Given the description of an element on the screen output the (x, y) to click on. 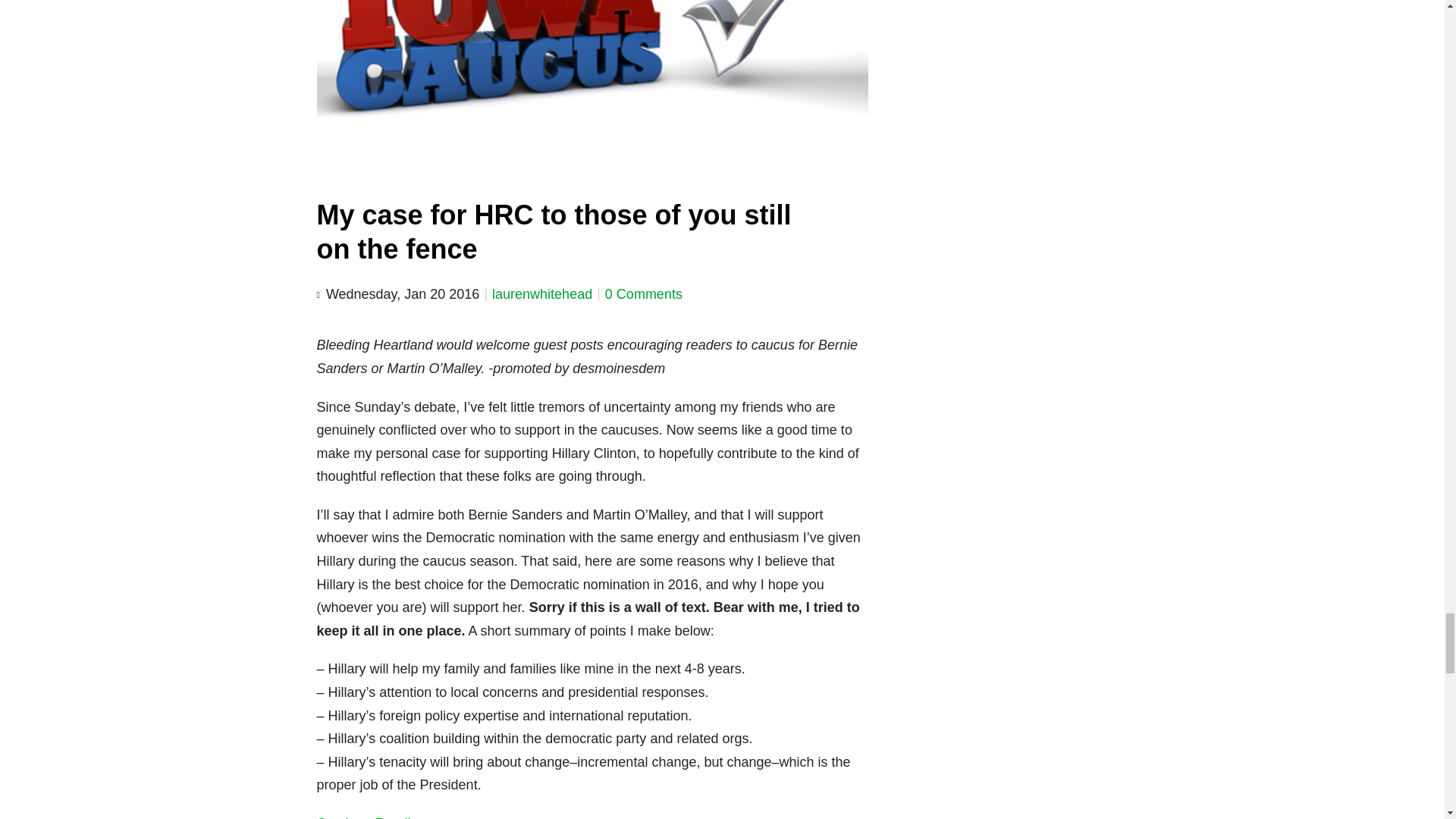
comments (643, 294)
